Given the description of an element on the screen output the (x, y) to click on. 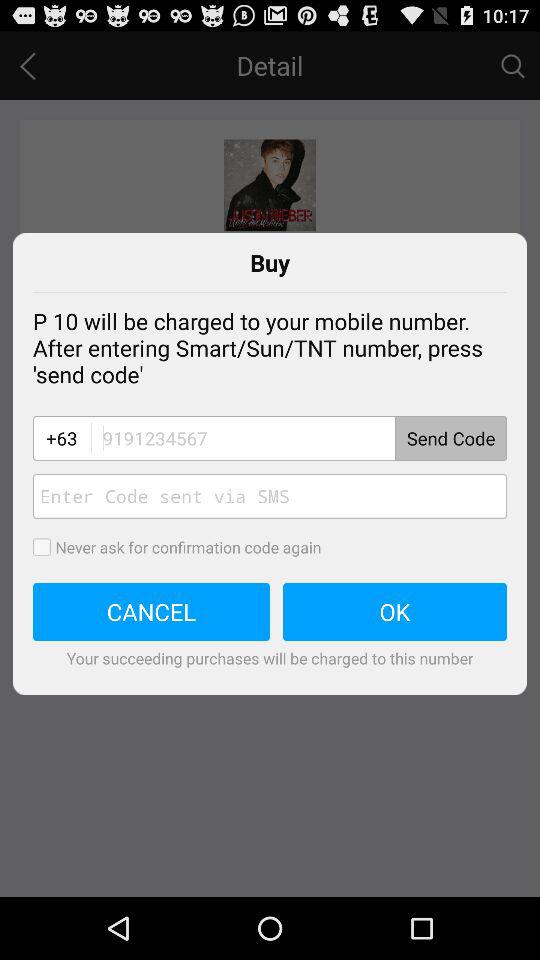
select the icon above your succeeding purchases app (151, 611)
